Given the description of an element on the screen output the (x, y) to click on. 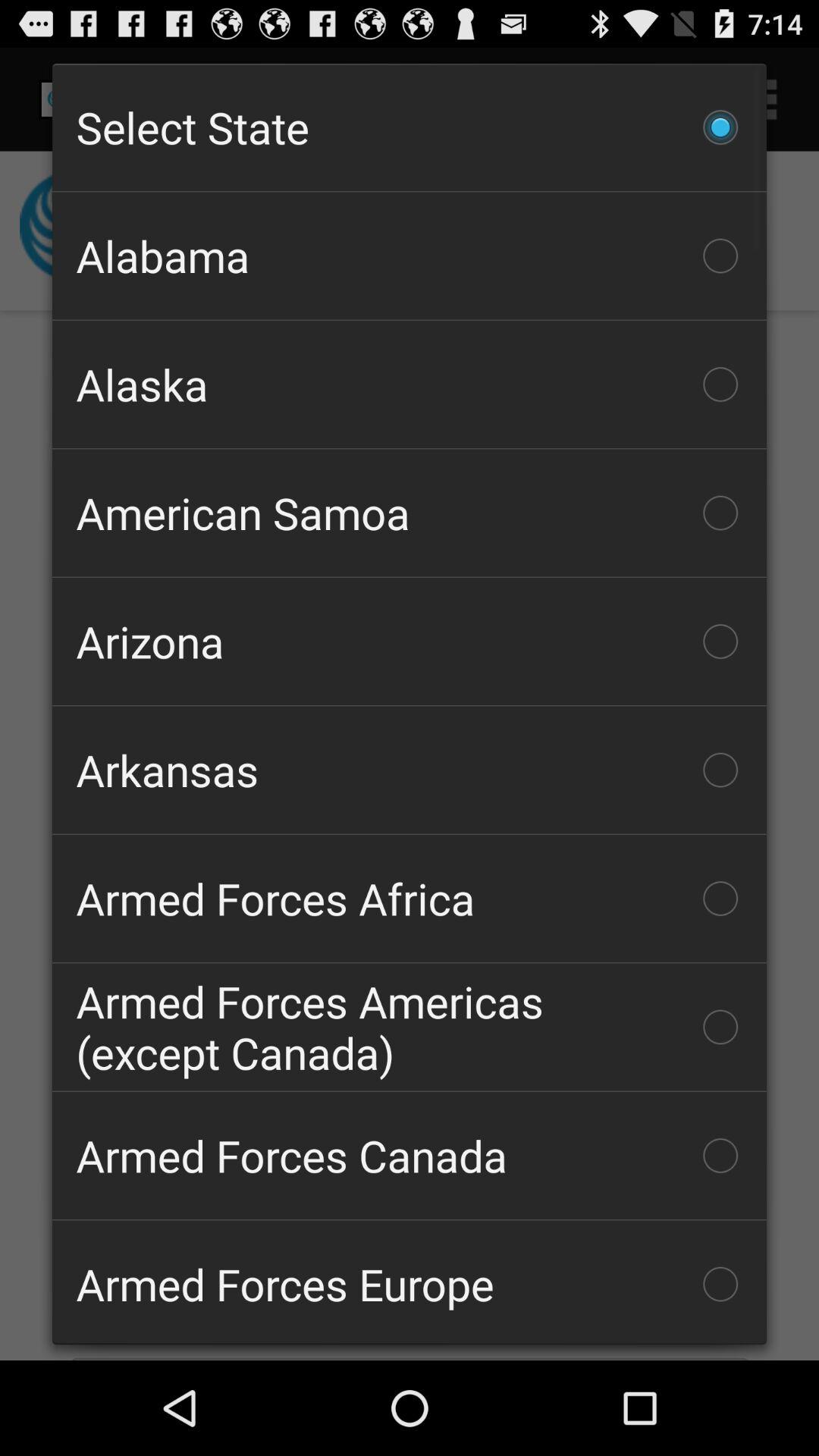
turn off checkbox above the armed forces africa icon (409, 769)
